Given the description of an element on the screen output the (x, y) to click on. 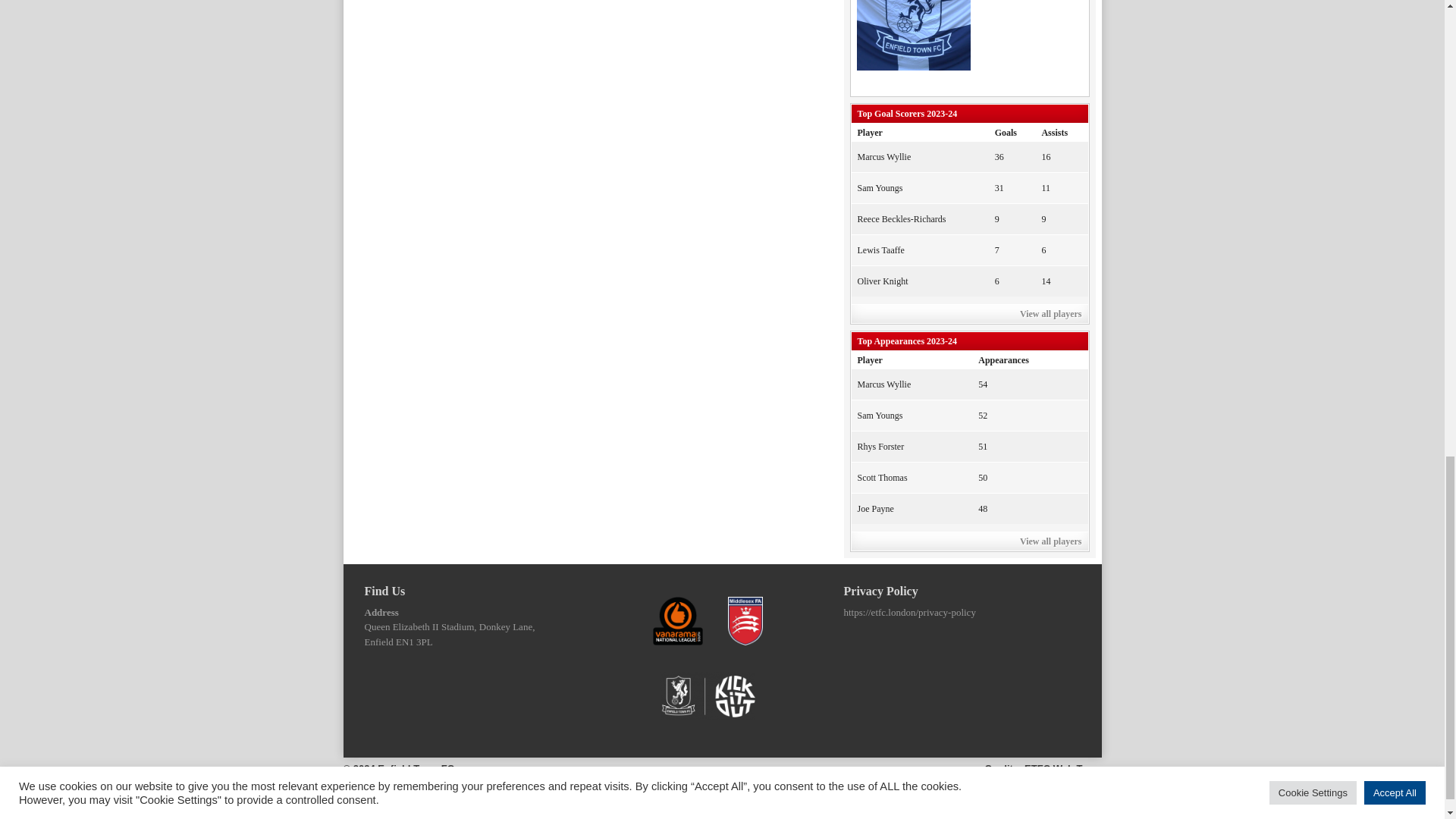
Kick It Out (708, 695)
National League South (677, 621)
